Given the description of an element on the screen output the (x, y) to click on. 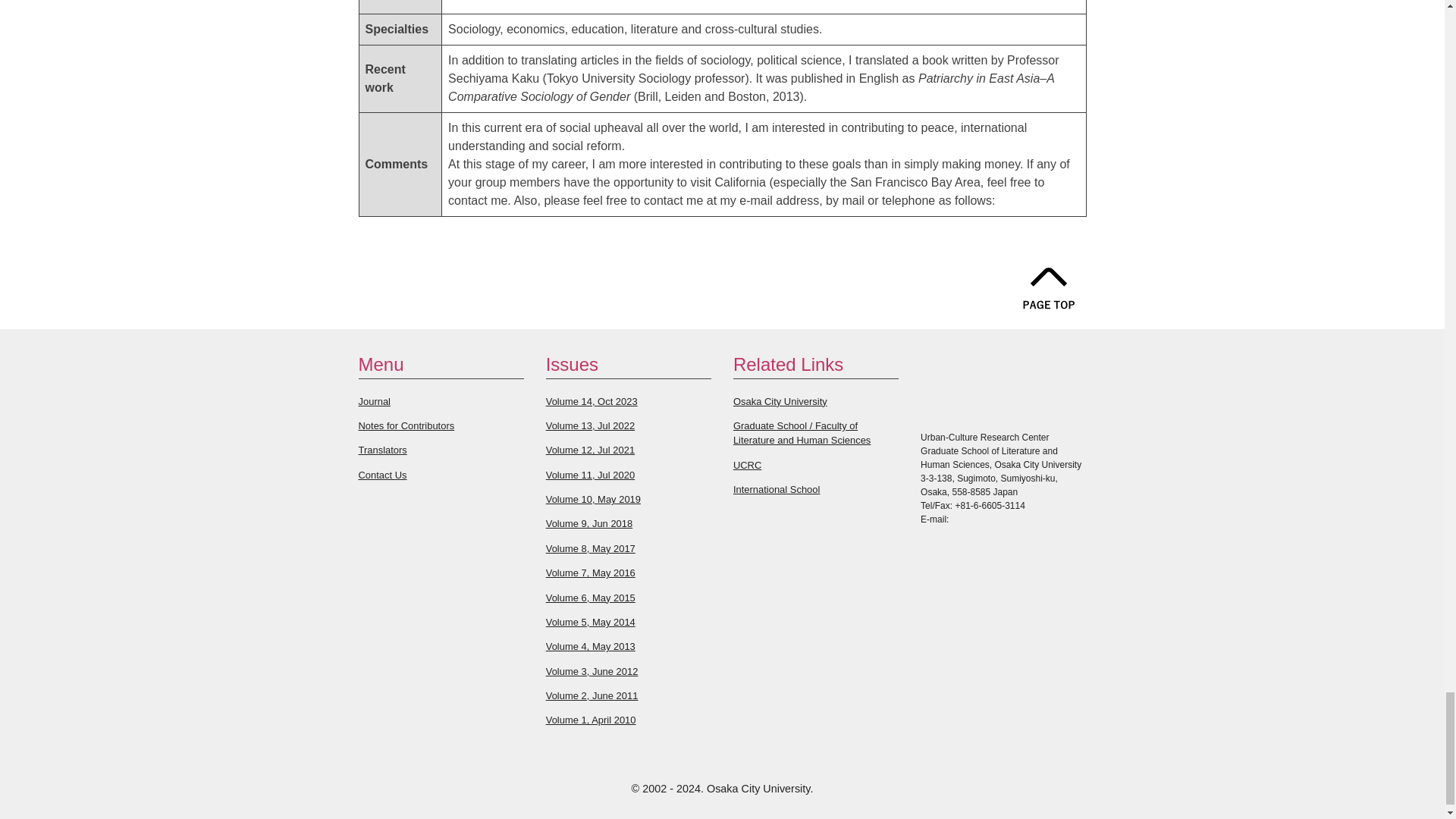
Osaka City University (780, 401)
Notes for Contributors (406, 425)
Volume 7, May 2016 (590, 572)
UCRC (747, 464)
Volume 6, May 2015 (590, 597)
Volume 9, Jun 2018 (589, 523)
Volume 13, Jul 2022 (590, 425)
Translators (382, 449)
Volume 3, June 2012 (592, 671)
Journal (374, 401)
Volume 10, May 2019 (593, 499)
Volume 4, May 2013 (590, 645)
Volume 8, May 2017 (590, 548)
Volume 12, Jul 2021 (590, 449)
Volume 2, June 2011 (592, 695)
